Given the description of an element on the screen output the (x, y) to click on. 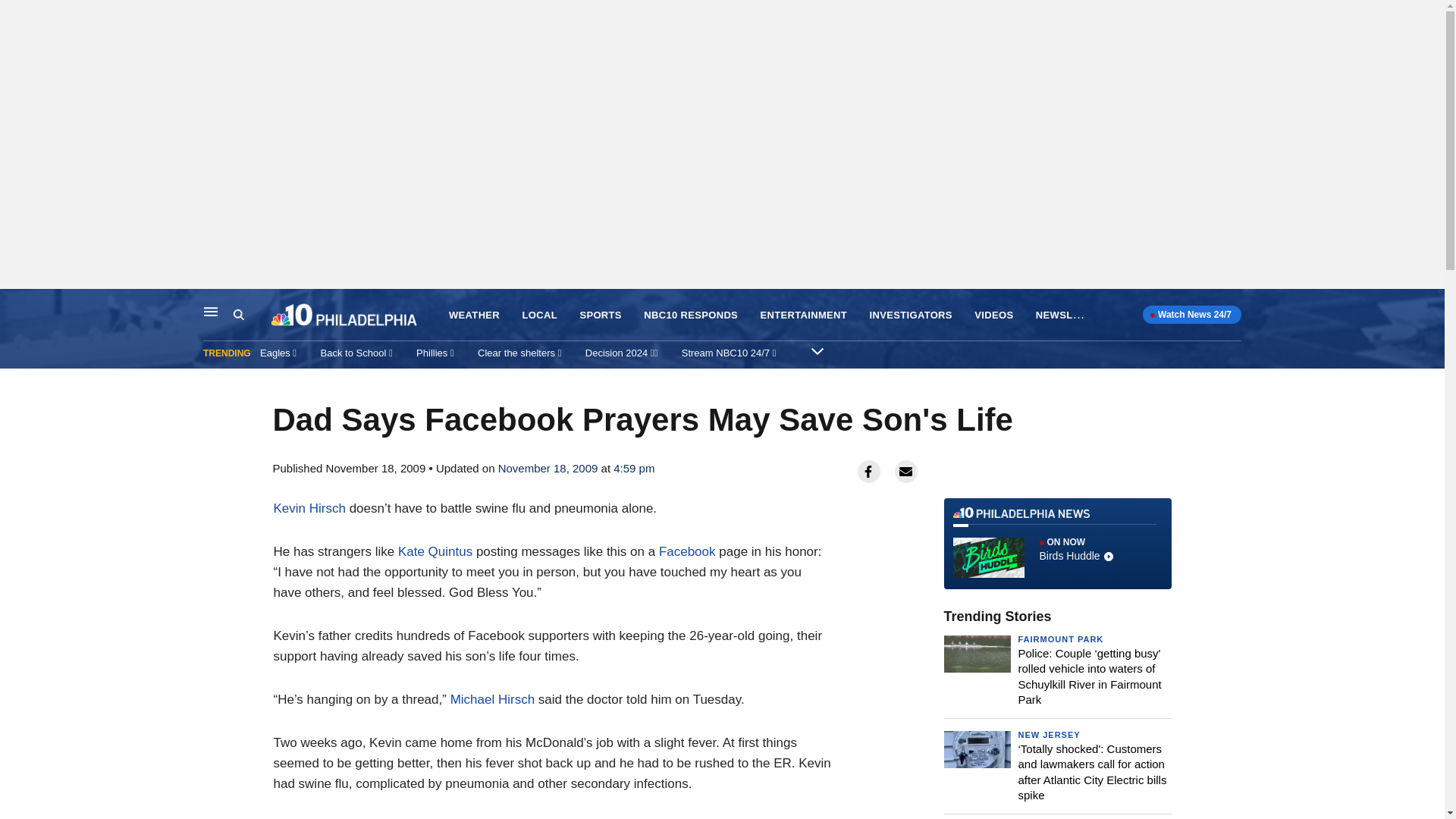
VIDEOS (1056, 542)
Kevin Hirsch (993, 315)
ENTERTAINMENT (309, 508)
Expand (803, 315)
Facebook Inc. (817, 350)
WEATHER (687, 551)
Search (473, 315)
Kate Quintus (252, 314)
Kate Quintus (434, 551)
